Given the description of an element on the screen output the (x, y) to click on. 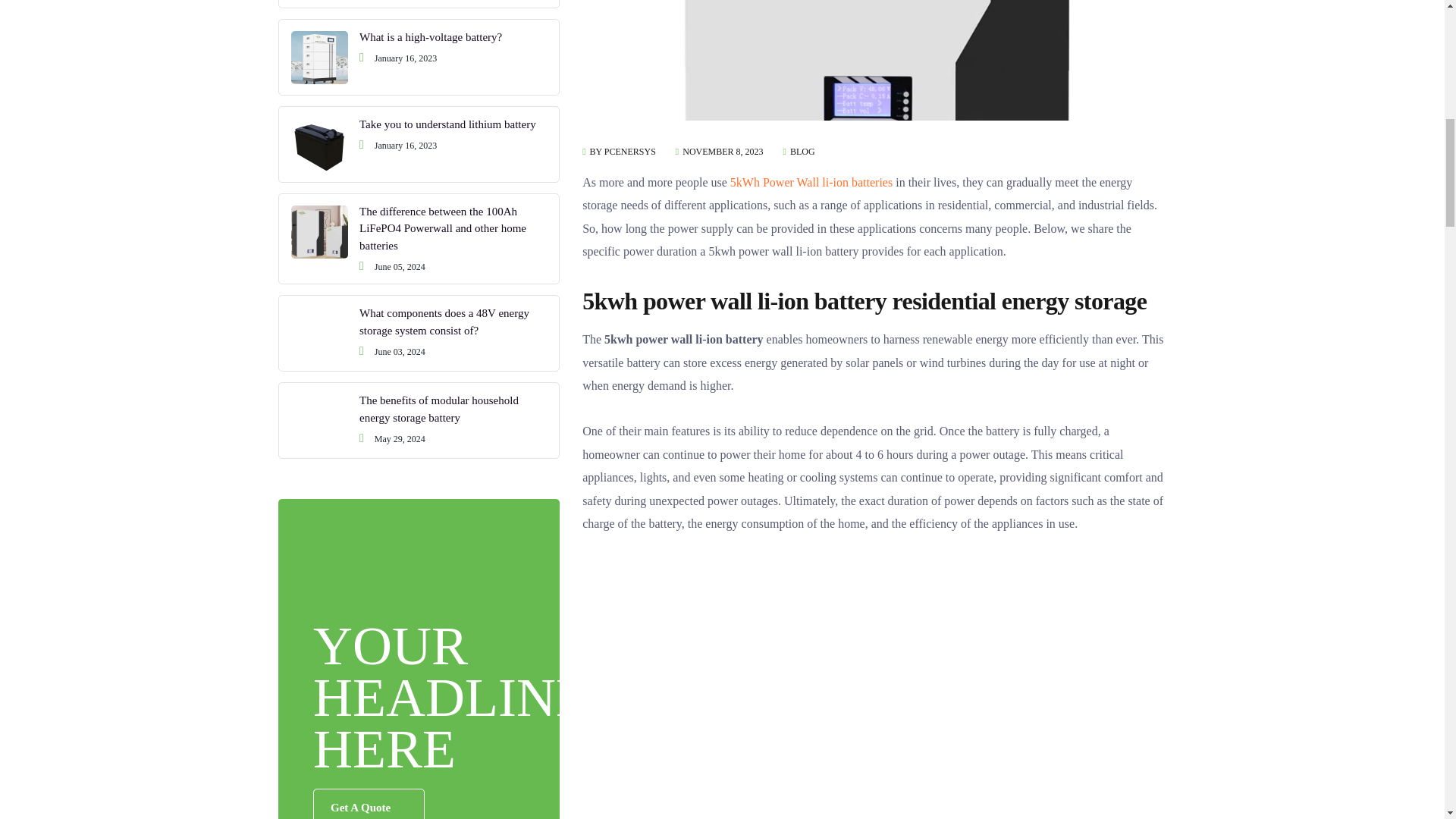
View all posts by pcenersys (622, 151)
